Given the description of an element on the screen output the (x, y) to click on. 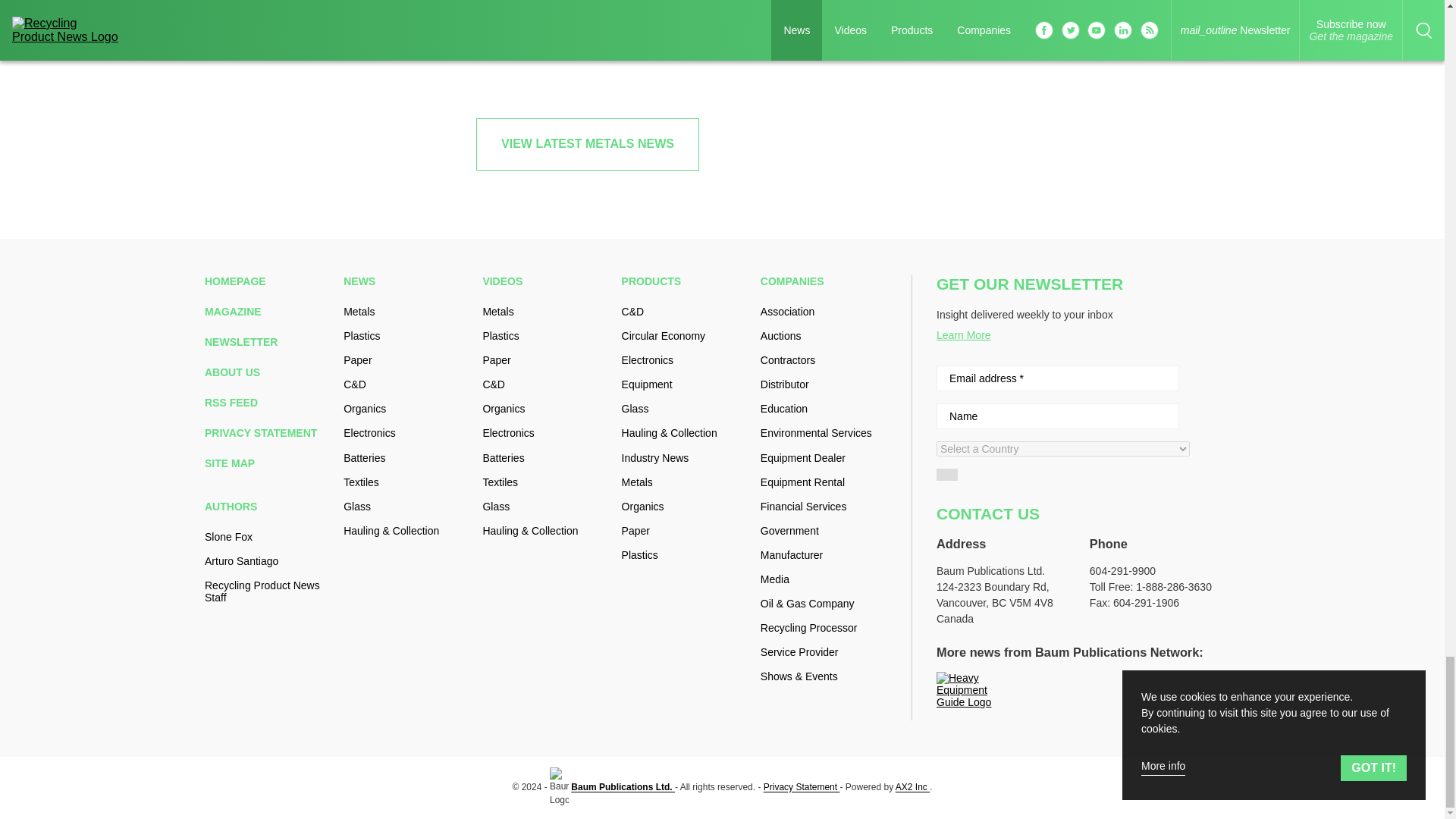
MAGAZINE (268, 311)
VIEW LATEST METALS NEWS (587, 143)
NEWSLETTER (268, 341)
RSS FEED (268, 402)
ABOUT US (268, 372)
HOMEPAGE (268, 281)
